Given the description of an element on the screen output the (x, y) to click on. 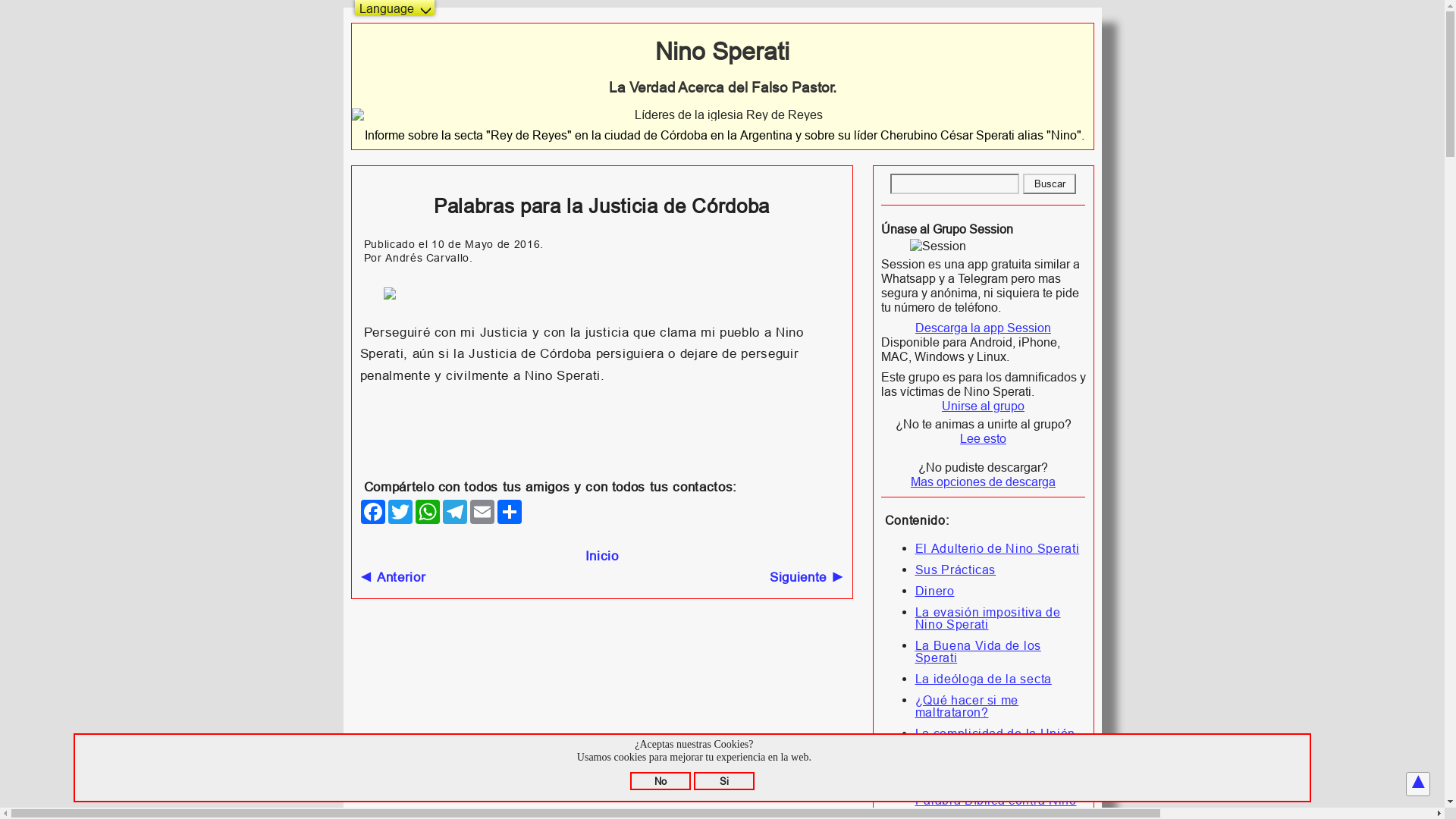
Mas opciones de descarga Element type: text (982, 481)
El Adulterio de Nino Sperati Element type: text (996, 548)
Facebook Element type: text (372, 511)
Telegram Element type: text (454, 511)
Dinero Element type: text (933, 590)
Nino Sperati
La Verdad Acerca del Falso Pastor. Element type: text (722, 66)
Language Element type: text (394, 7)
Session, app segura Element type: hover (983, 245)
Share Element type: text (509, 511)
Lee esto Element type: text (983, 438)
Inicio Element type: text (601, 556)
No Element type: text (660, 780)
Descarga la app Session Element type: text (983, 327)
Unirse al grupo Element type: text (982, 405)
Nino Sperati y sus amigos Element type: hover (722, 114)
Buscar Element type: text (1049, 182)
WhatsApp Element type: text (427, 511)
La Buena Vida de los Sperati Element type: text (977, 651)
Twitter Element type: text (400, 511)
Email Element type: text (481, 511)
Si Element type: text (723, 780)
